Given the description of an element on the screen output the (x, y) to click on. 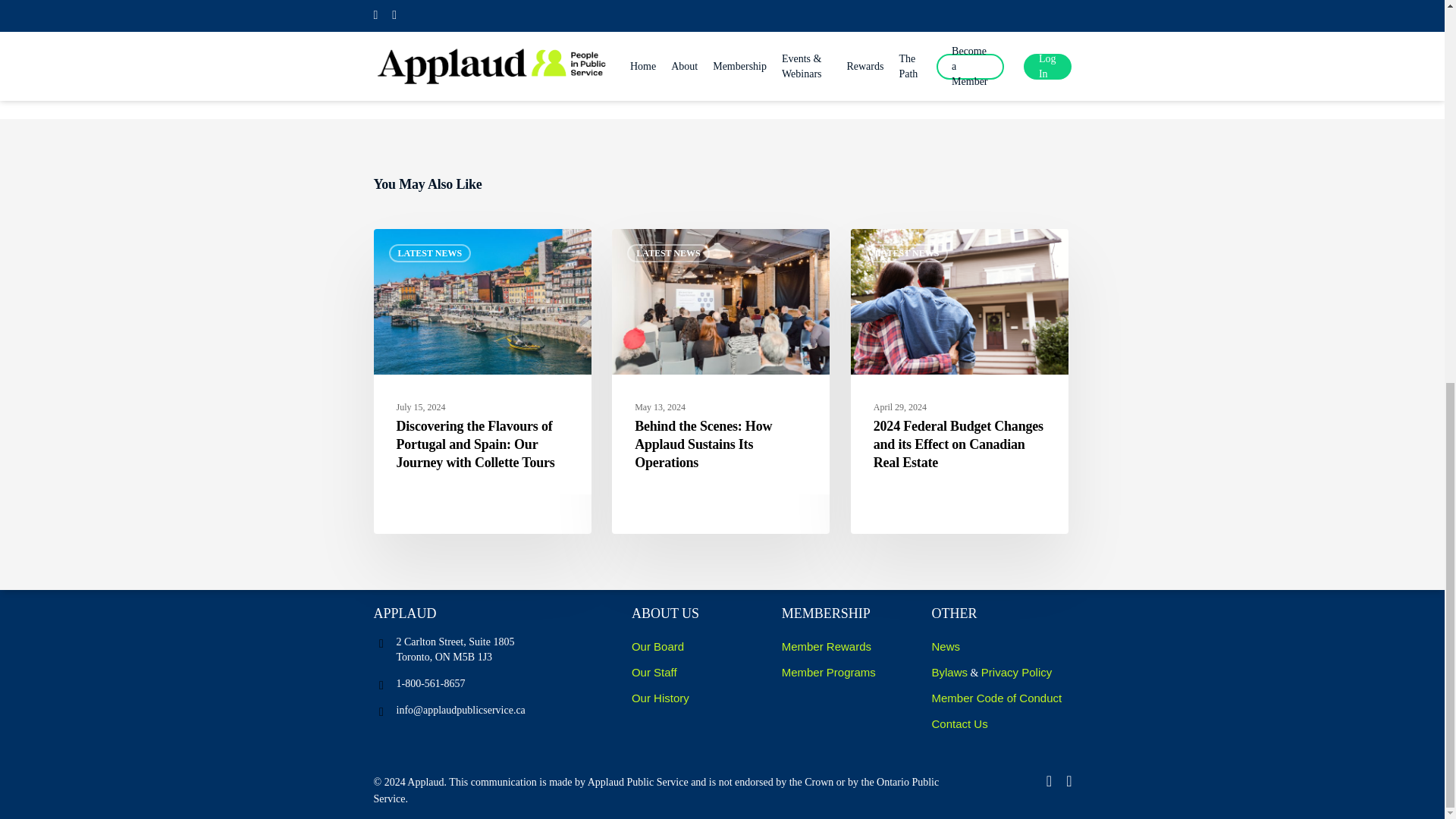
Share (424, 16)
Share (525, 17)
LATEST NEWS (713, 17)
Share this (429, 253)
Share this (713, 17)
Tweet (525, 17)
Love this (620, 17)
Tweet this (424, 16)
LATEST NEWS (620, 17)
Pin (668, 253)
Pin this (801, 17)
